Given the description of an element on the screen output the (x, y) to click on. 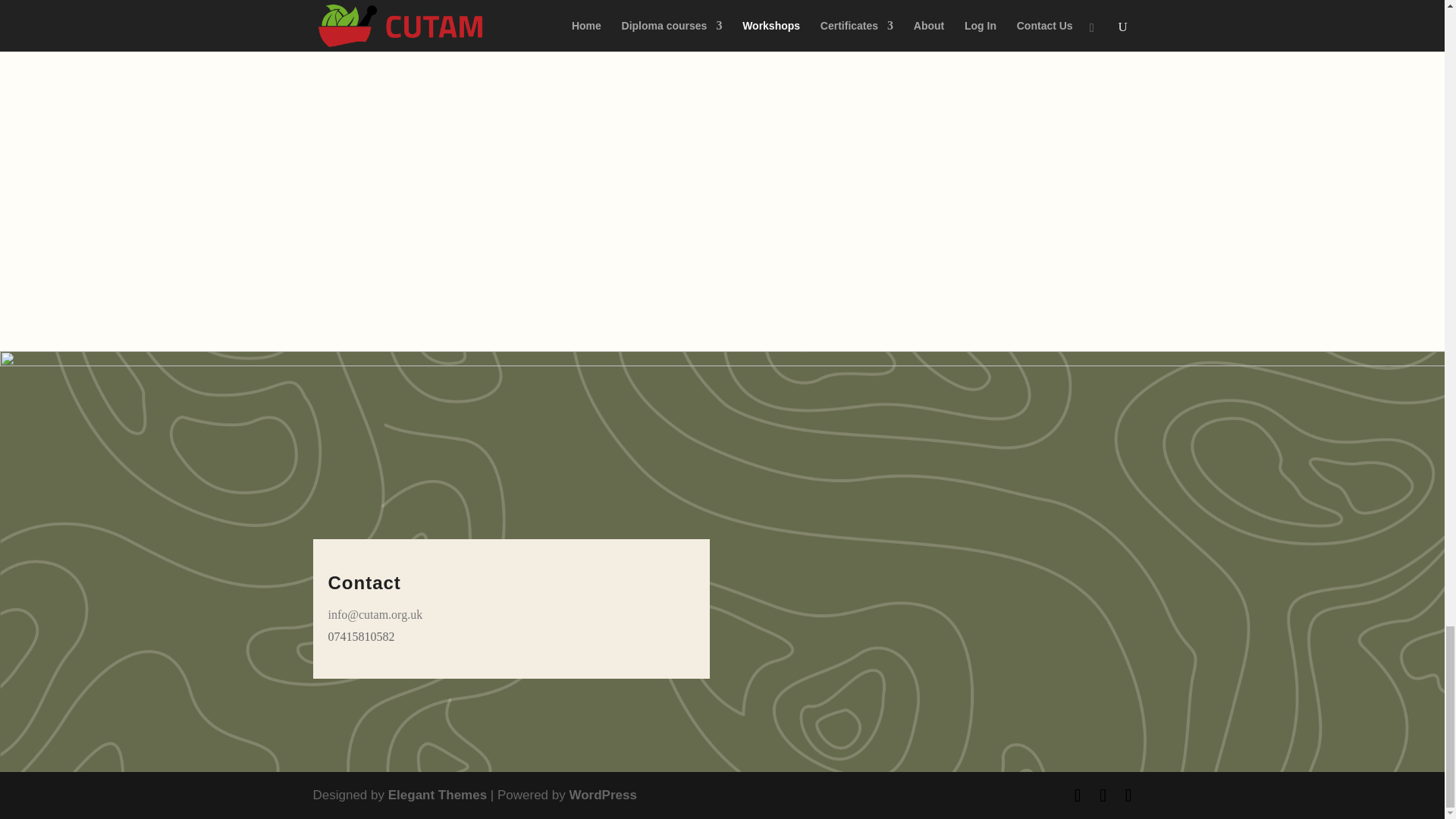
WordPress (602, 794)
Buy now (722, 7)
Elegant Themes (437, 794)
Premium WordPress Themes (437, 794)
